Given the description of an element on the screen output the (x, y) to click on. 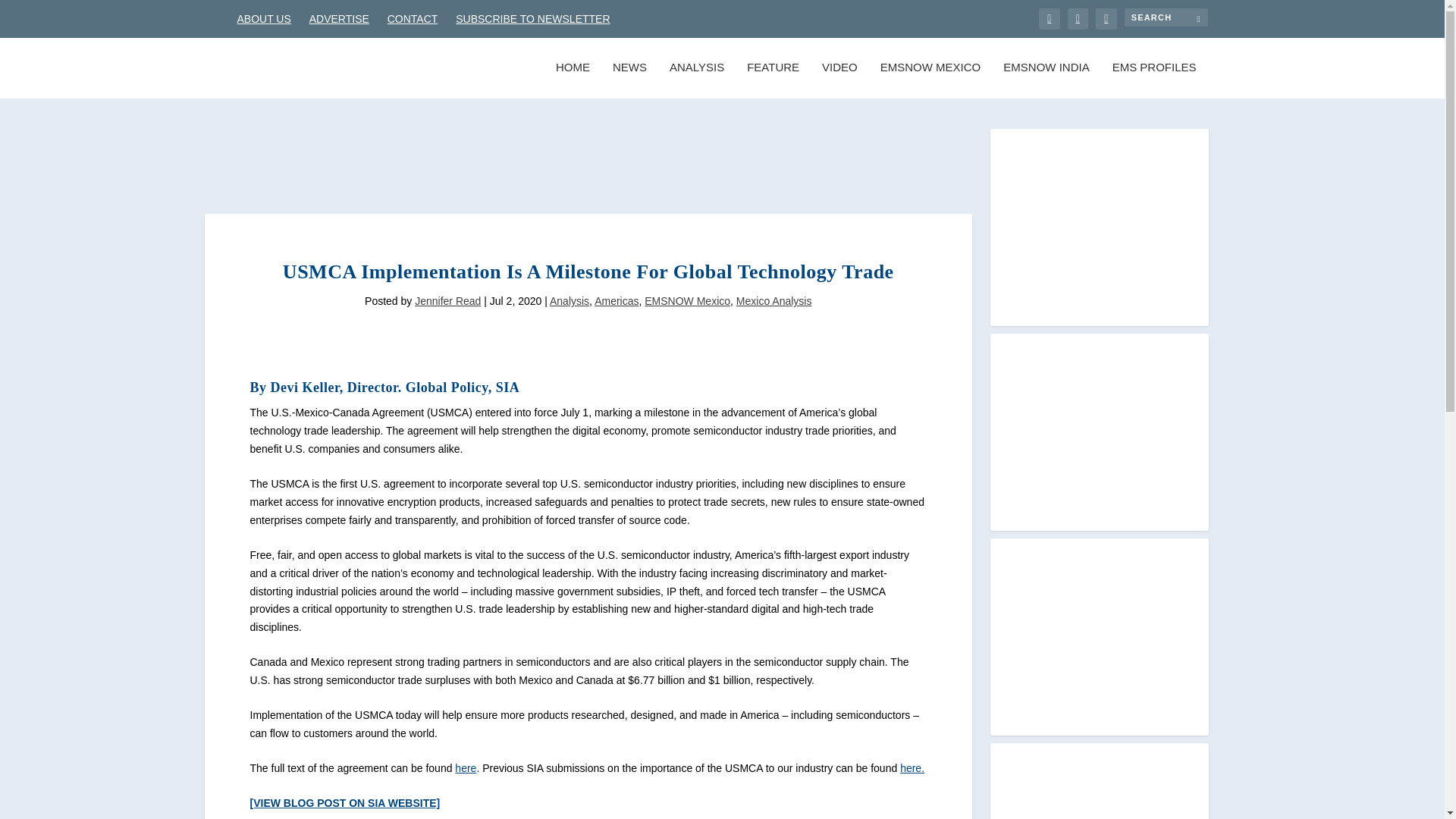
HOME (572, 79)
here. (911, 767)
VIDEO (839, 79)
Jennifer Read (447, 300)
Search for: (1165, 17)
Analysis (569, 300)
Mexico Analysis (774, 300)
EMS PROFILES (1154, 79)
Posts by Jennifer Read (447, 300)
ADVERTISE (338, 18)
